Given the description of an element on the screen output the (x, y) to click on. 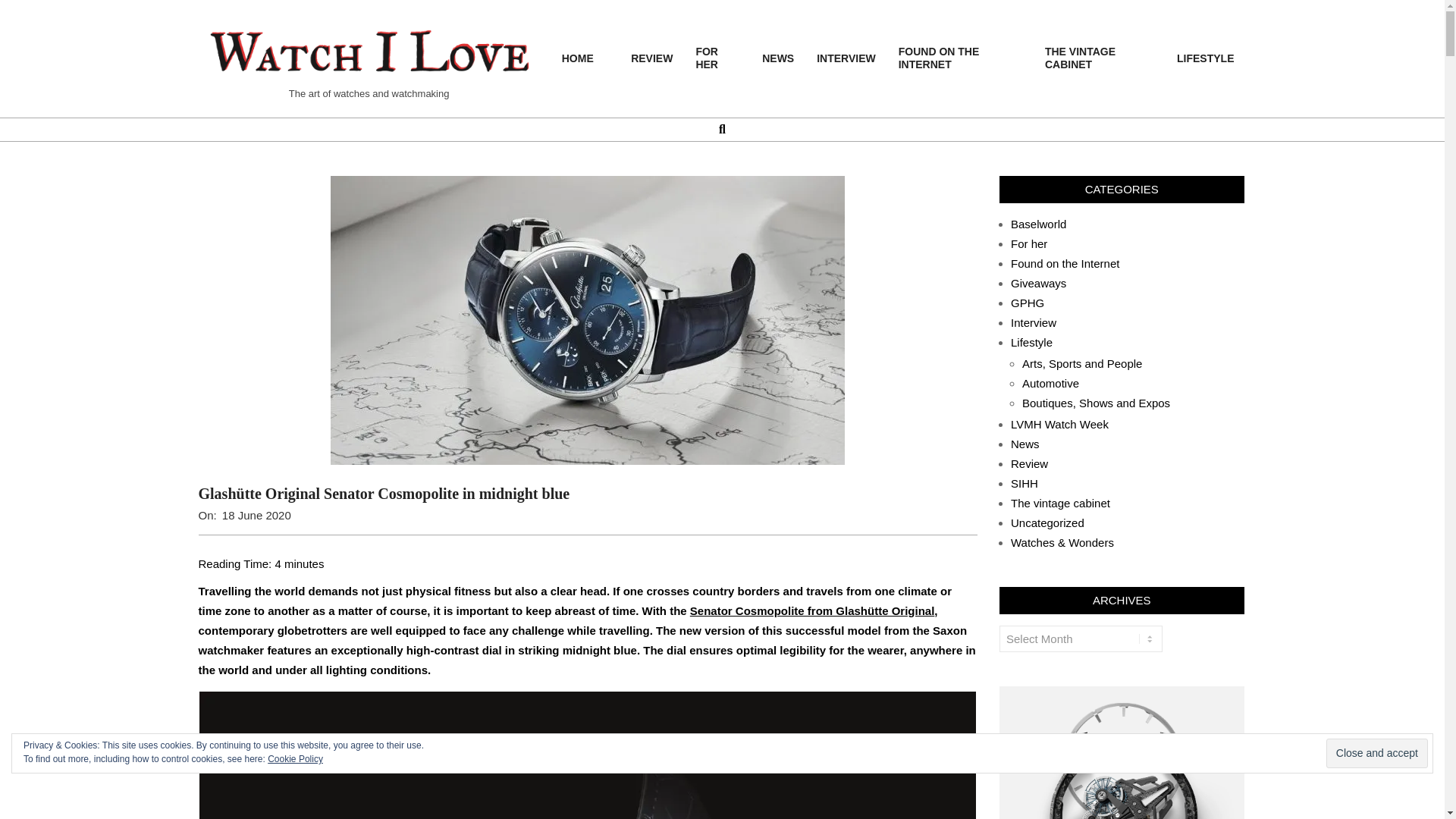
NEWS (778, 58)
Search (21, 8)
REVIEW (652, 58)
LIFESTYLE (1205, 58)
FOR HER (717, 58)
FOUND ON THE INTERNET (959, 58)
HOME      (585, 58)
Close and accept (1377, 753)
THE VINTAGE CABINET (1099, 58)
INTERVIEW (845, 58)
Thursday, June 18, 2020, 9:00 am (256, 514)
